Given the description of an element on the screen output the (x, y) to click on. 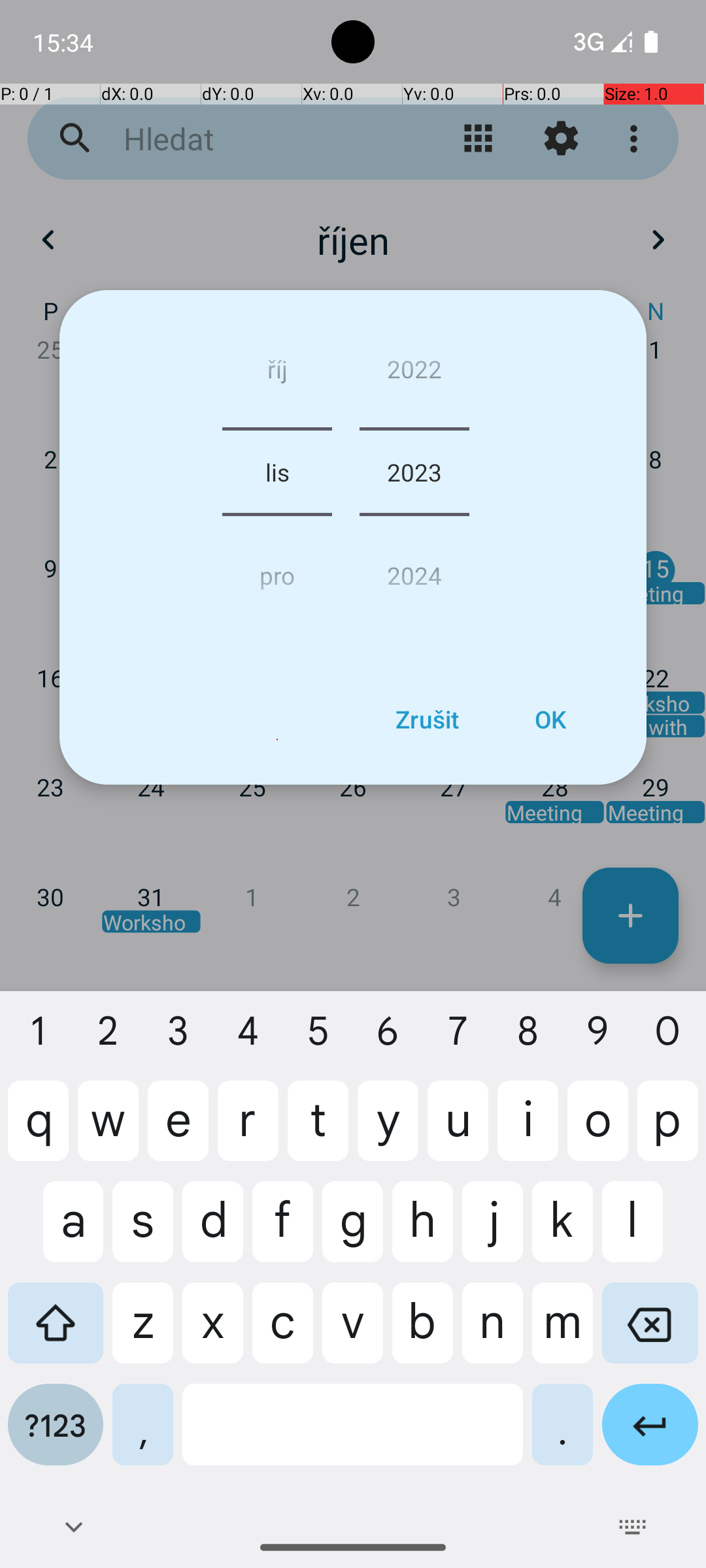
Zrušit Element type: android.widget.Button (426, 719)
říj Element type: android.widget.Button (277, 373)
lis Element type: android.widget.EditText (277, 471)
pro Element type: android.widget.Button (277, 569)
